Given the description of an element on the screen output the (x, y) to click on. 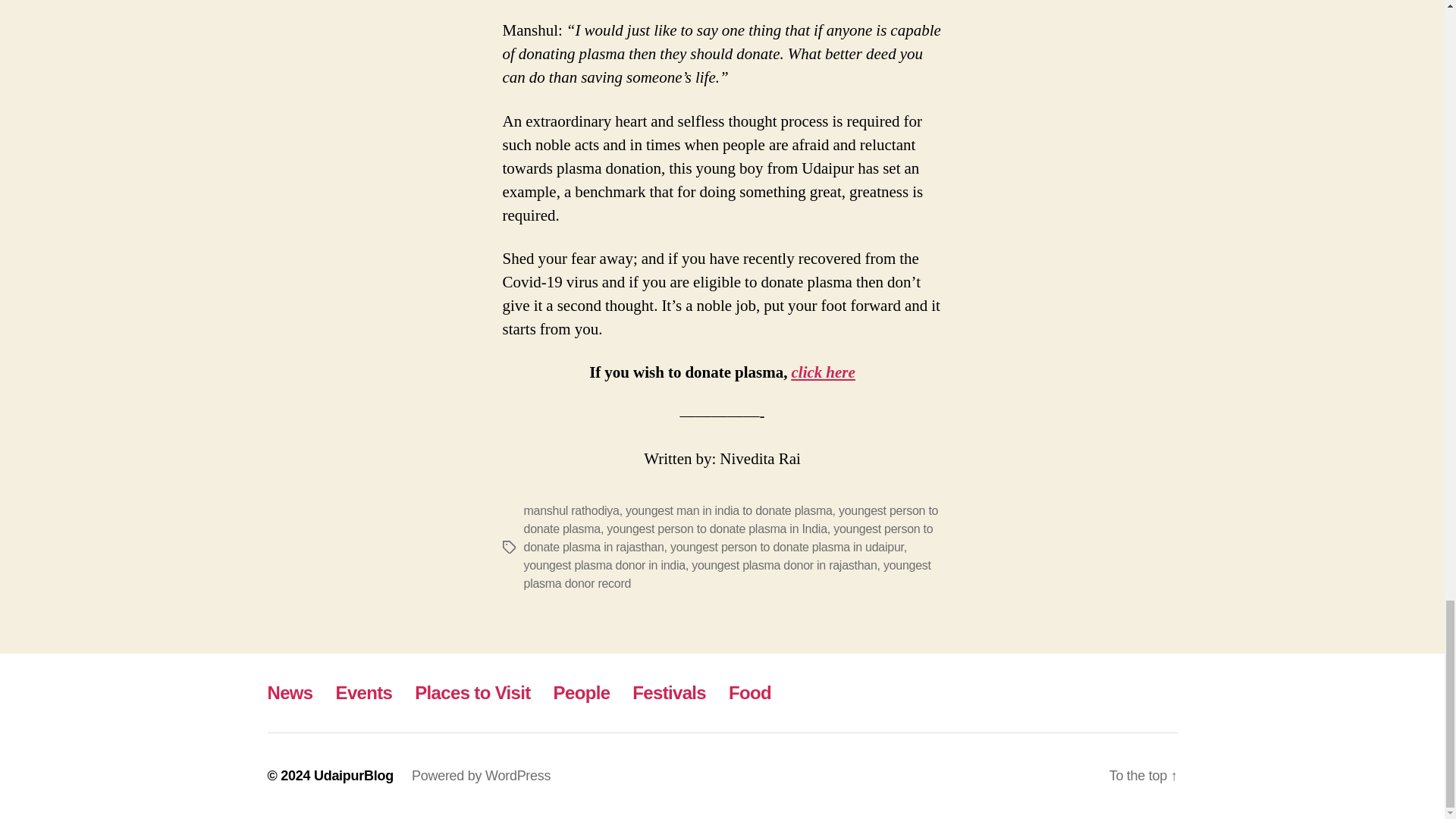
youngest person to donate plasma in rajasthan (727, 537)
youngest plasma donor in india (603, 564)
youngest person to donate plasma in udaipur (786, 546)
youngest person to donate plasma (729, 519)
manshul rathodiya (570, 510)
youngest person to donate plasma in India (717, 528)
youngest man in india to donate plasma (729, 510)
click here (822, 372)
